Given the description of an element on the screen output the (x, y) to click on. 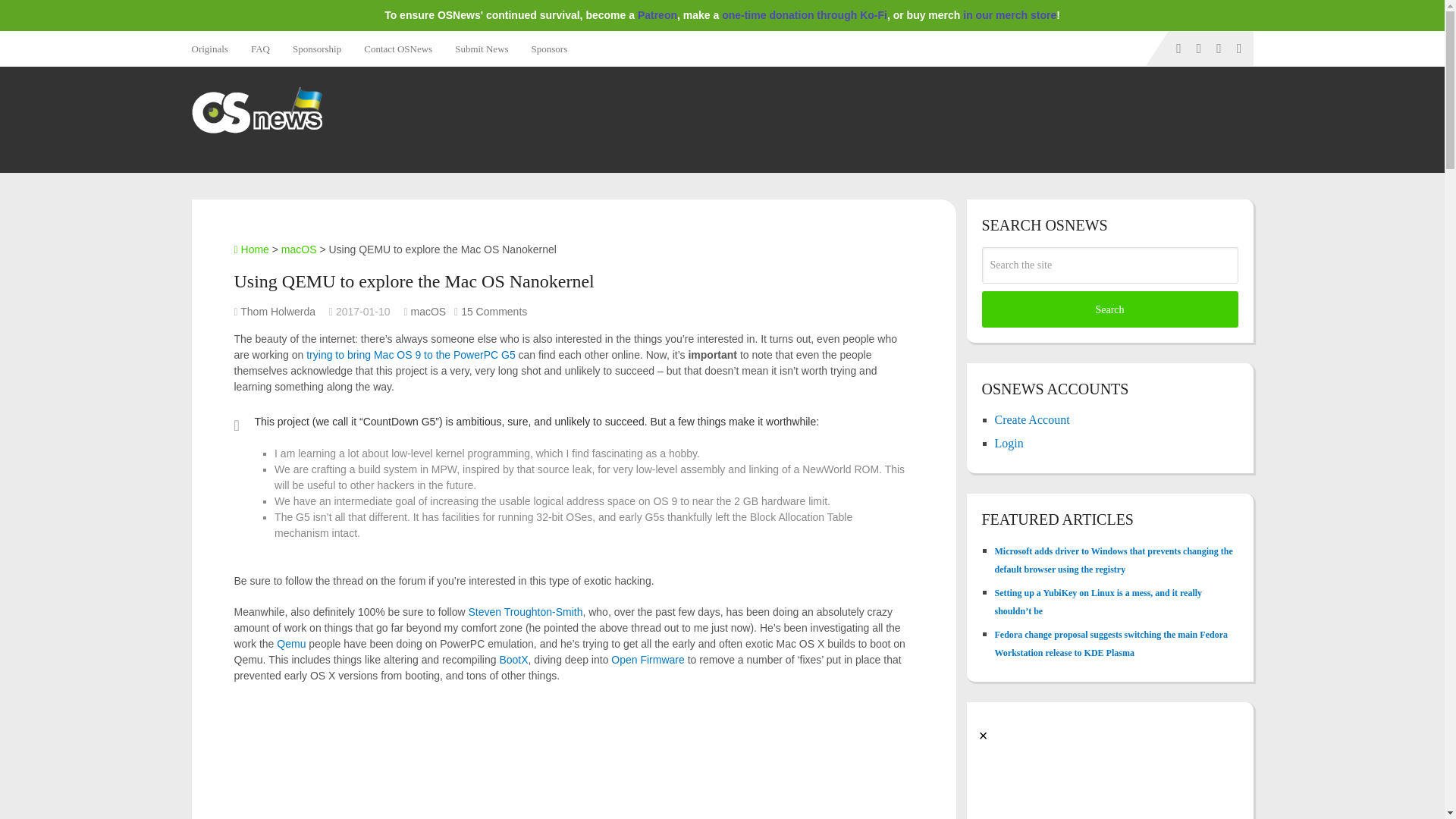
Contact OSNews (398, 48)
one-time donation through Ko-Fi (804, 15)
Posts by Thom Holwerda (277, 311)
BootX (513, 659)
Originals (214, 48)
Sponsorship (316, 48)
15 Comments (494, 311)
 Home (249, 249)
macOS (299, 249)
trying to bring Mac OS 9 to the PowerPC G5 (410, 354)
Submit News (481, 48)
Open Firmware (647, 659)
Qemu (290, 644)
Search (1109, 309)
Thom Holwerda (277, 311)
